Given the description of an element on the screen output the (x, y) to click on. 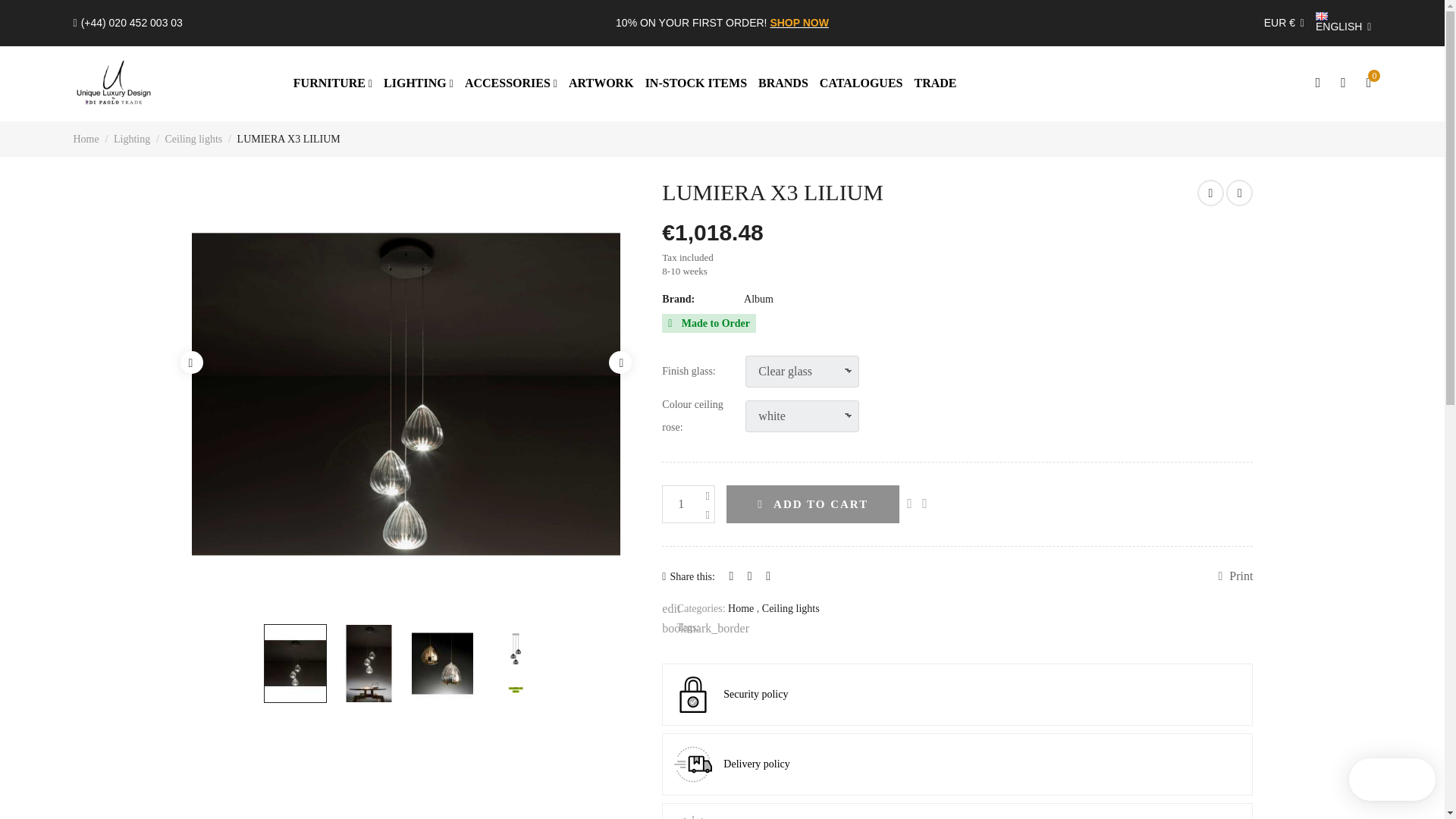
FURNITURE (333, 82)
1 (688, 504)
BARRALED X5 VENERE (1238, 192)
ENGLISH (1343, 22)
BARRA X2 LILIUM (1210, 192)
